Given the description of an element on the screen output the (x, y) to click on. 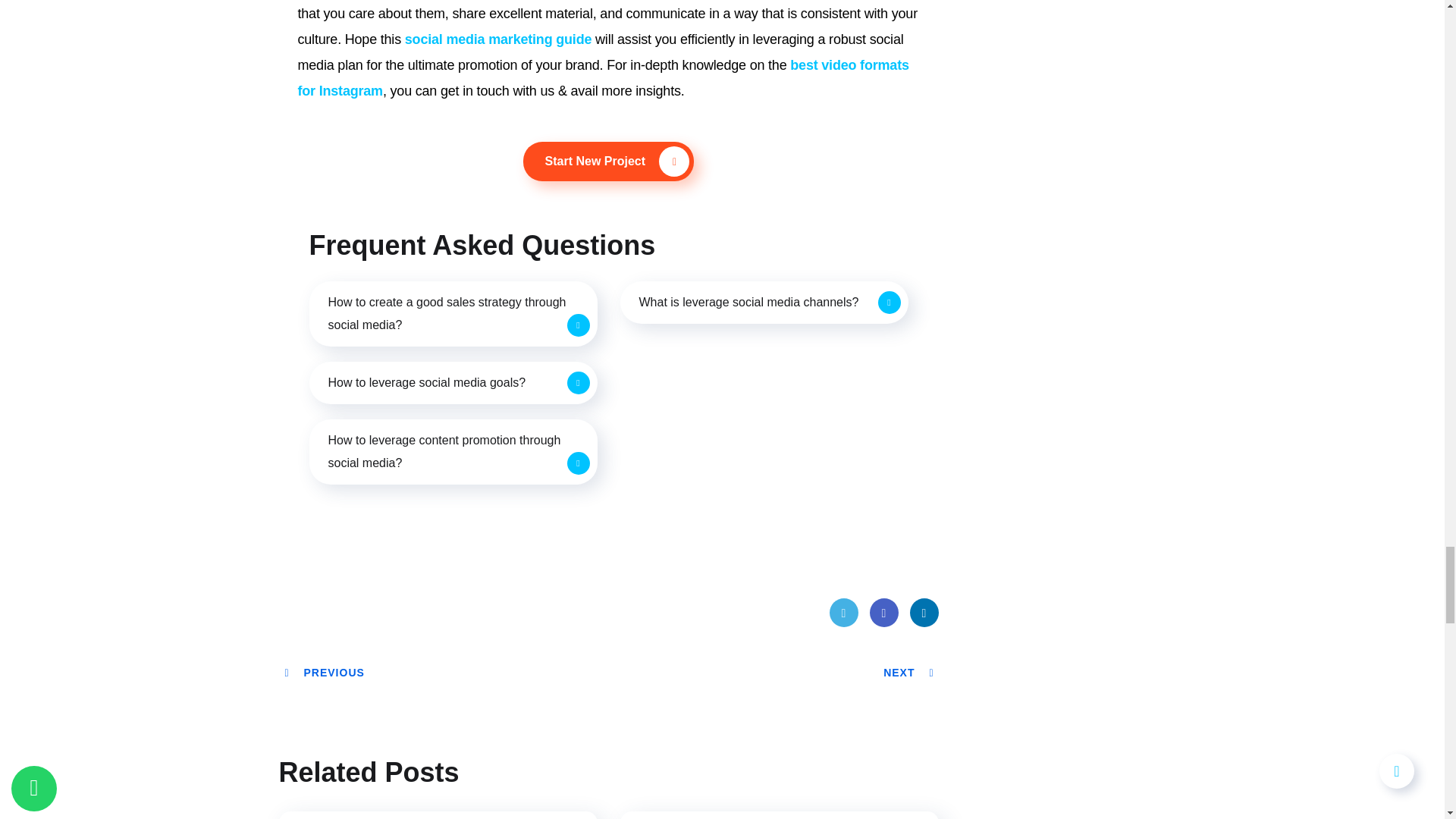
Twitter (844, 612)
LinkedIn (924, 612)
Facebook (883, 612)
